Given the description of an element on the screen output the (x, y) to click on. 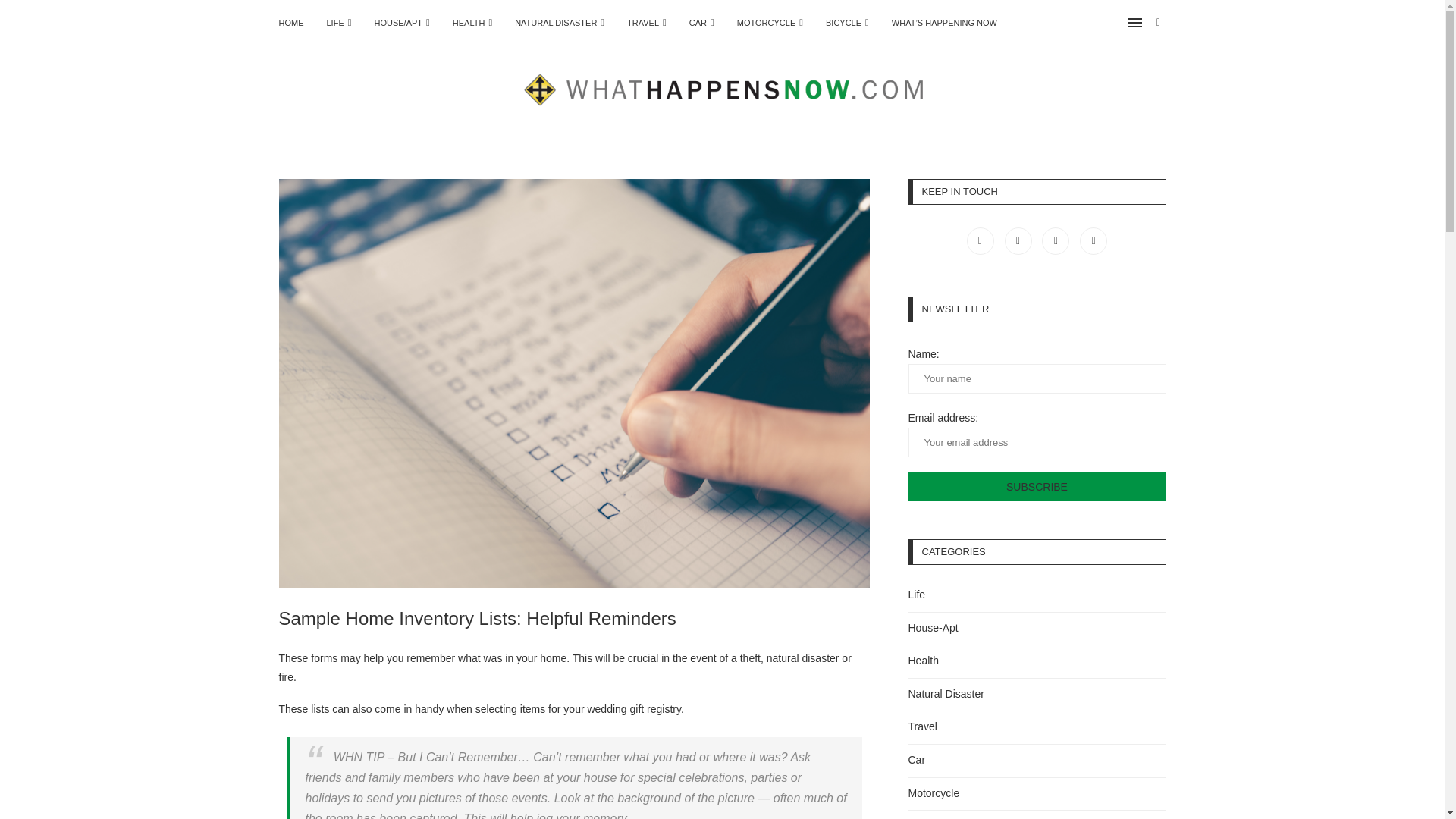
BICYCLE (847, 22)
TRAVEL (646, 22)
SUBSCRIBE (1037, 486)
MOTORCYCLE (769, 22)
NATURAL DISASTER (559, 22)
HEALTH (472, 22)
